Given the description of an element on the screen output the (x, y) to click on. 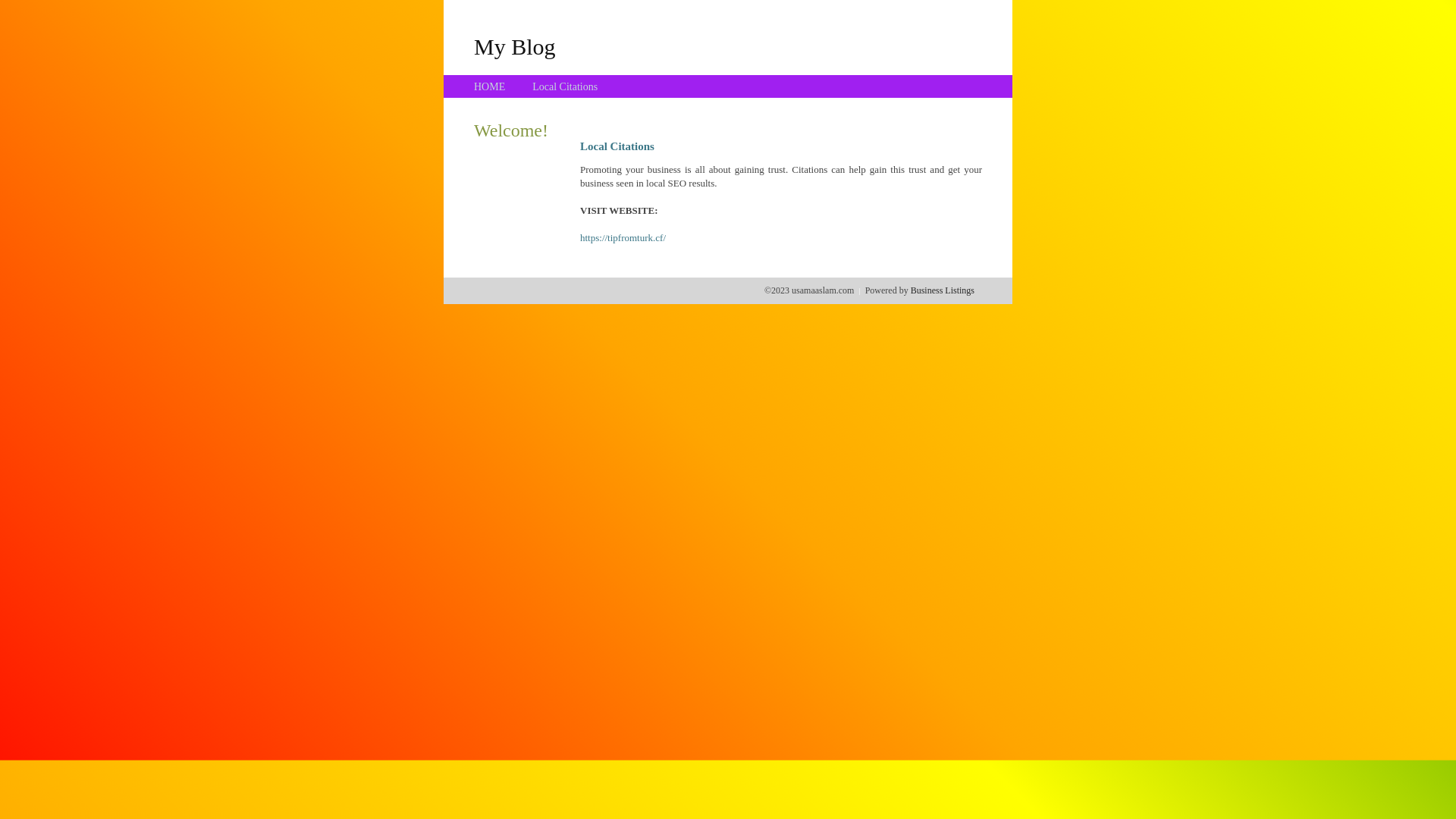
https://tipfromturk.cf/ Element type: text (622, 237)
Business Listings Element type: text (942, 290)
Local Citations Element type: text (564, 86)
My Blog Element type: text (514, 46)
HOME Element type: text (489, 86)
